Given the description of an element on the screen output the (x, y) to click on. 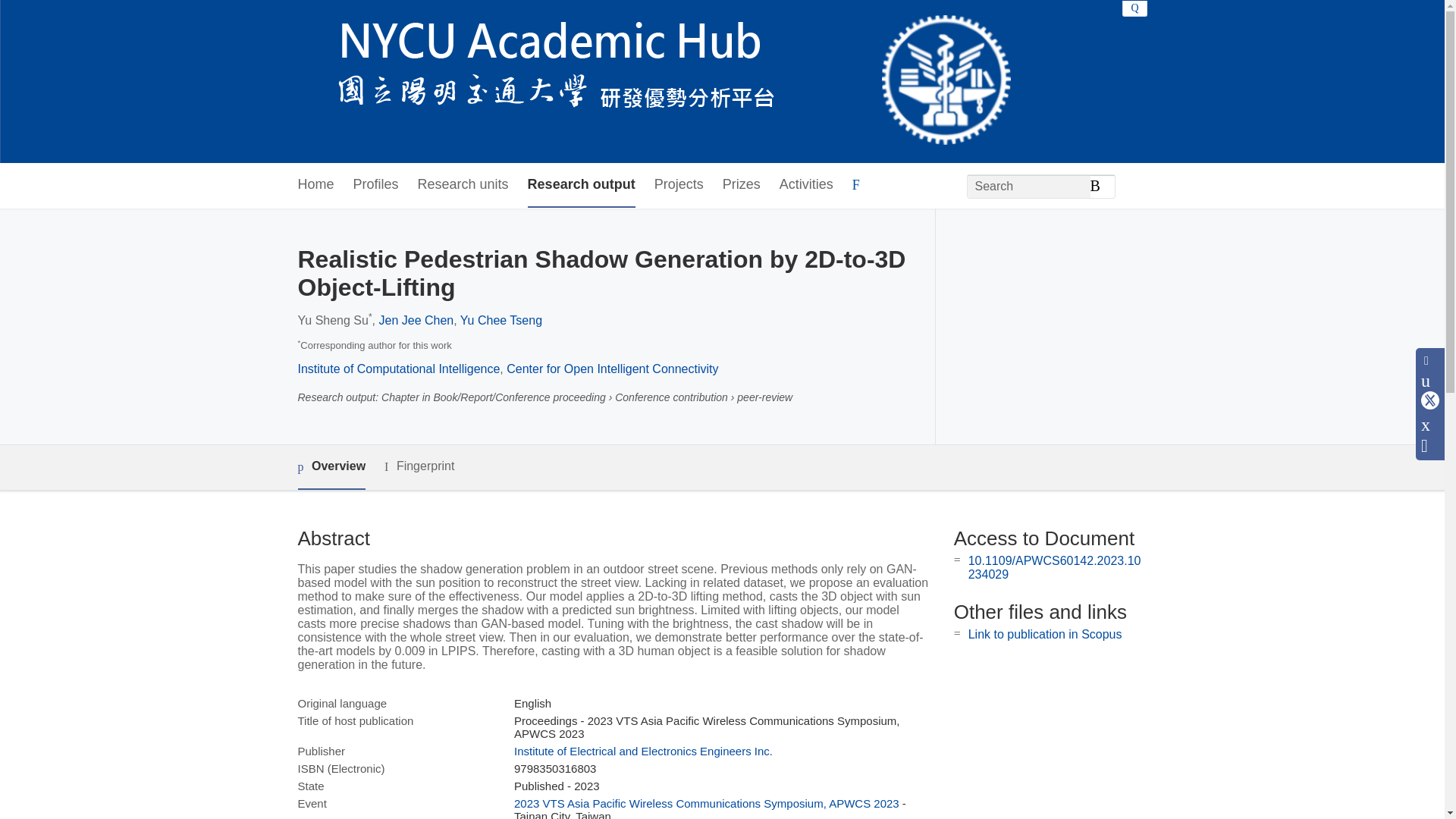
Research output (580, 185)
Institute of Computational Intelligence (398, 368)
Overview (331, 467)
National Yang Ming Chiao Tung University Academic Hub Home (653, 81)
Projects (678, 185)
Center for Open Intelligent Connectivity (611, 368)
Research units (462, 185)
Yu Chee Tseng (500, 319)
Jen Jee Chen (415, 319)
Link to publication in Scopus (1045, 634)
Fingerprint (419, 466)
Institute of Electrical and Electronics Engineers Inc. (643, 750)
Profiles (375, 185)
